Given the description of an element on the screen output the (x, y) to click on. 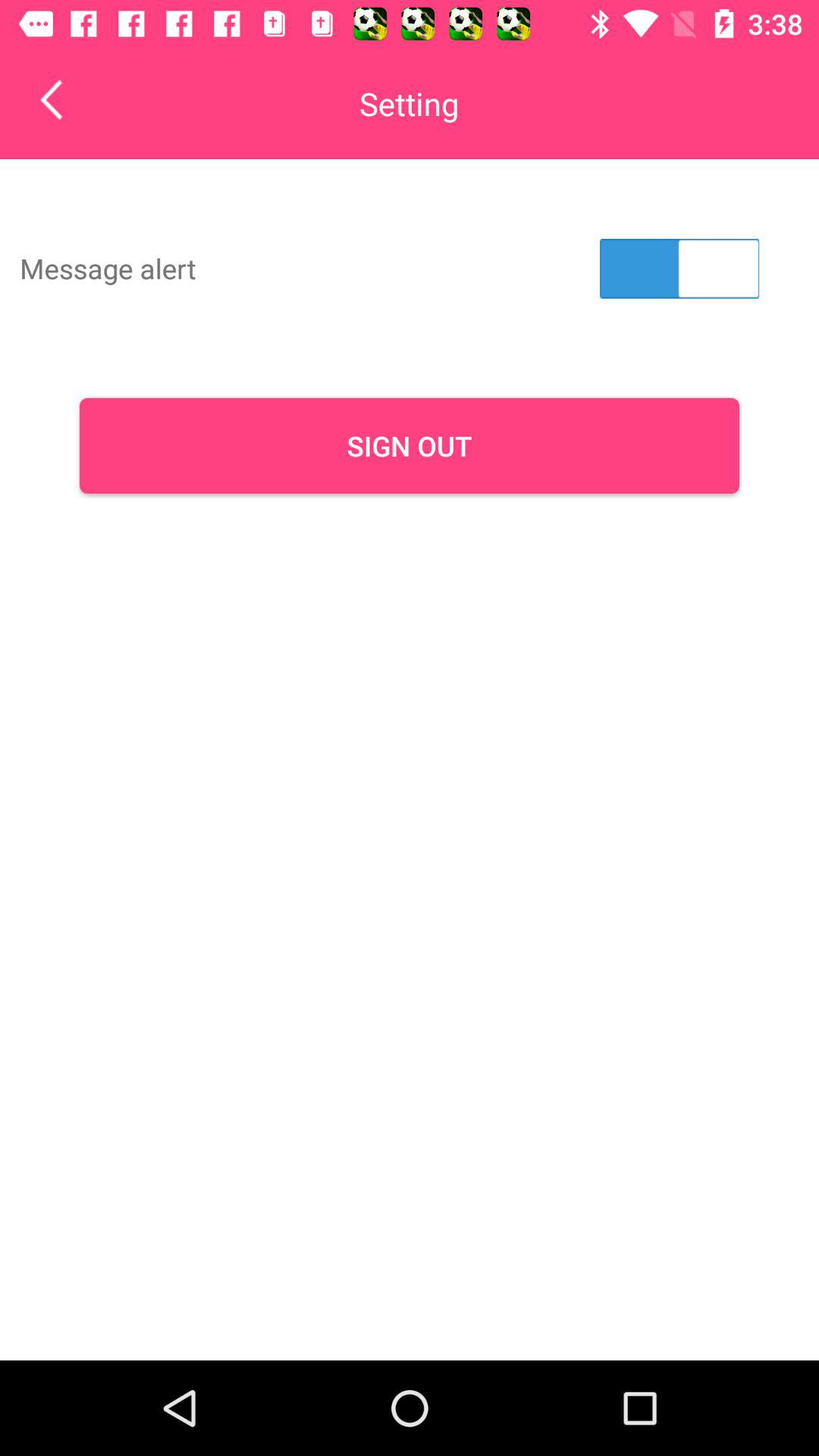
select the icon at the top left corner (62, 99)
